Given the description of an element on the screen output the (x, y) to click on. 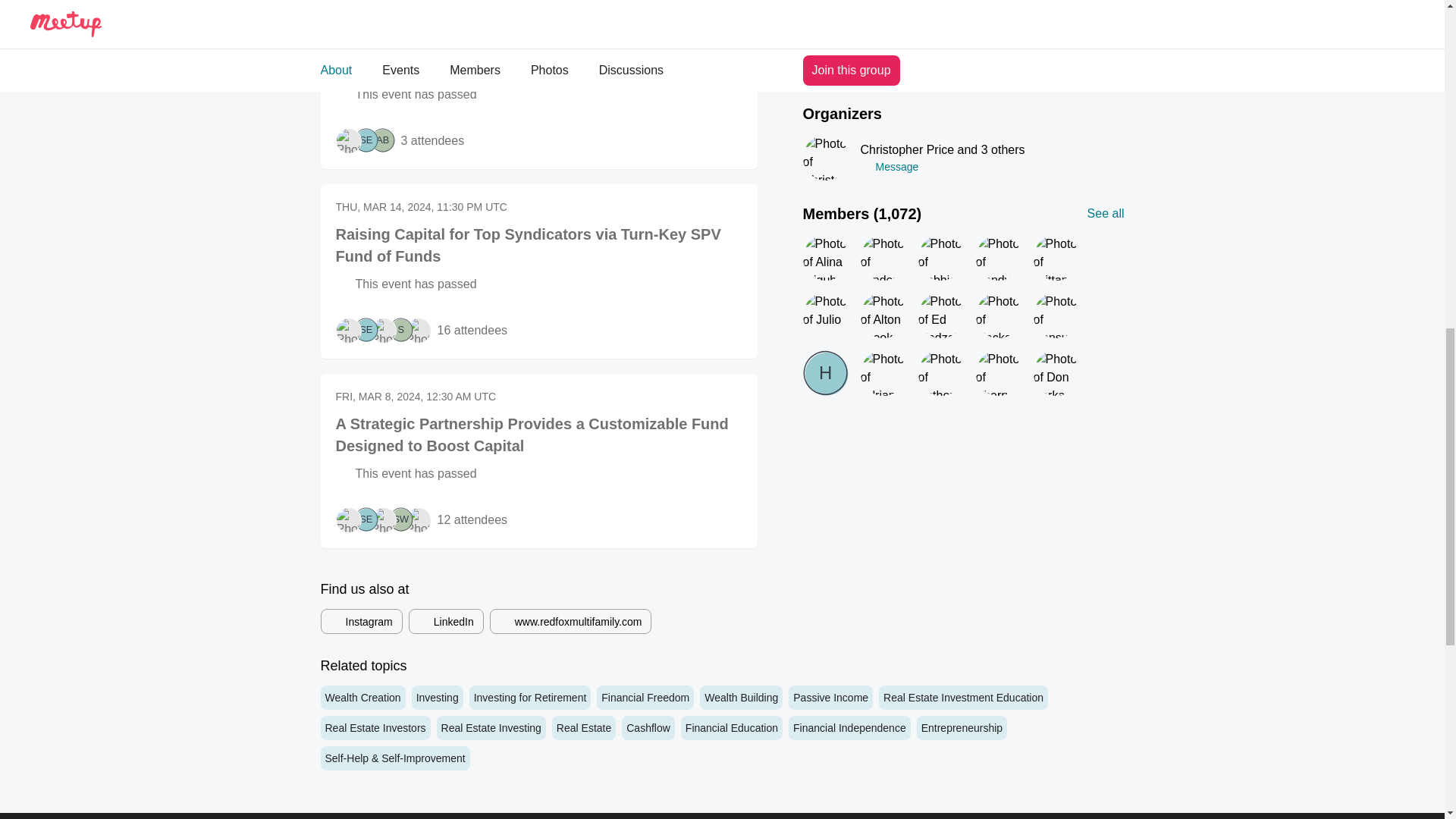
AB (381, 139)
S (400, 329)
SE (365, 139)
Financial Freedom (645, 697)
Wealth Building (741, 697)
Wealth Creation (362, 697)
Investing (437, 697)
www.redfoxmultifamily.com (570, 621)
SW (400, 518)
SE (365, 518)
LinkedIn (446, 621)
SE (365, 329)
